Given the description of an element on the screen output the (x, y) to click on. 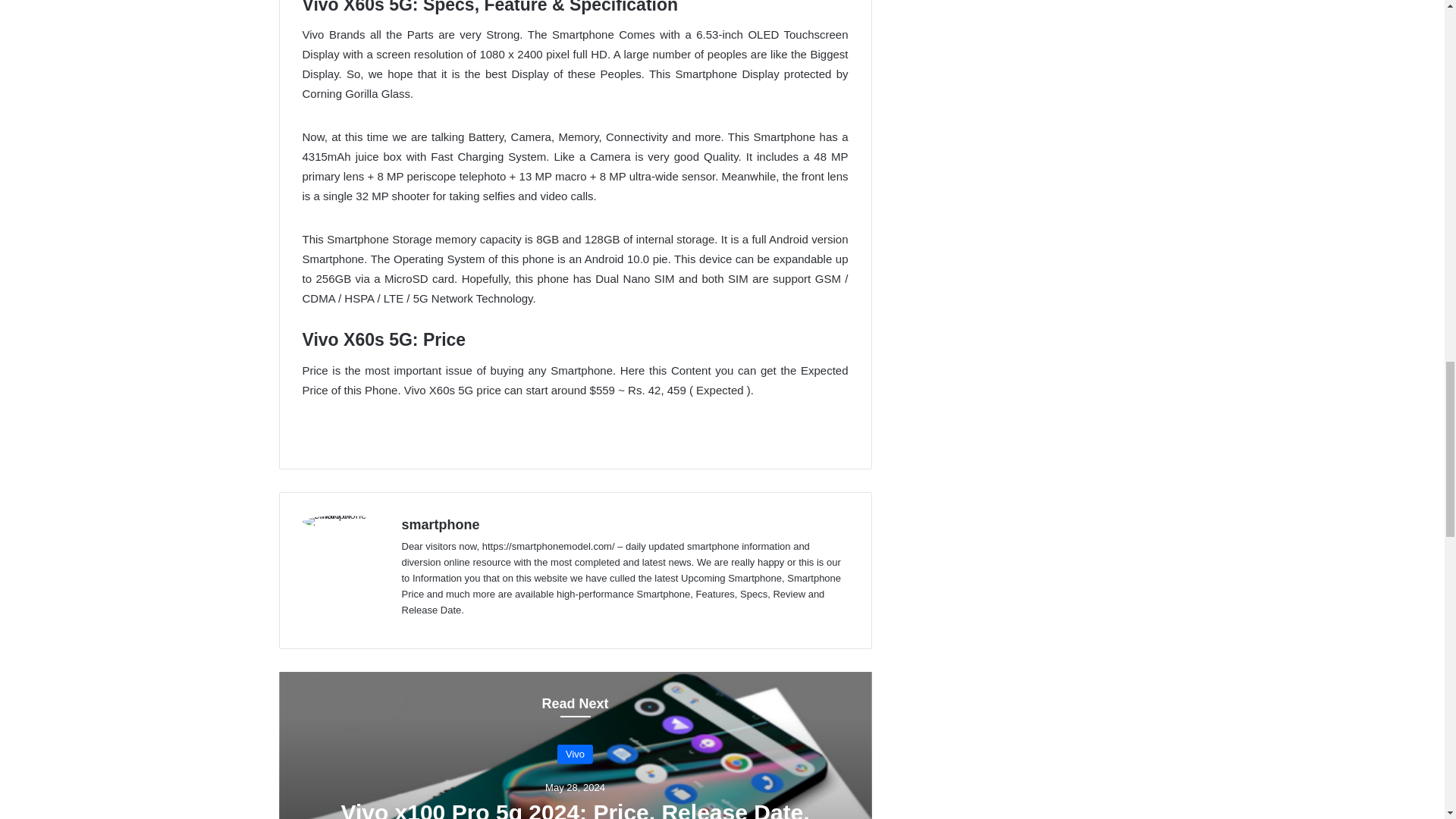
Vivo (574, 753)
smartphone (440, 524)
